Given the description of an element on the screen output the (x, y) to click on. 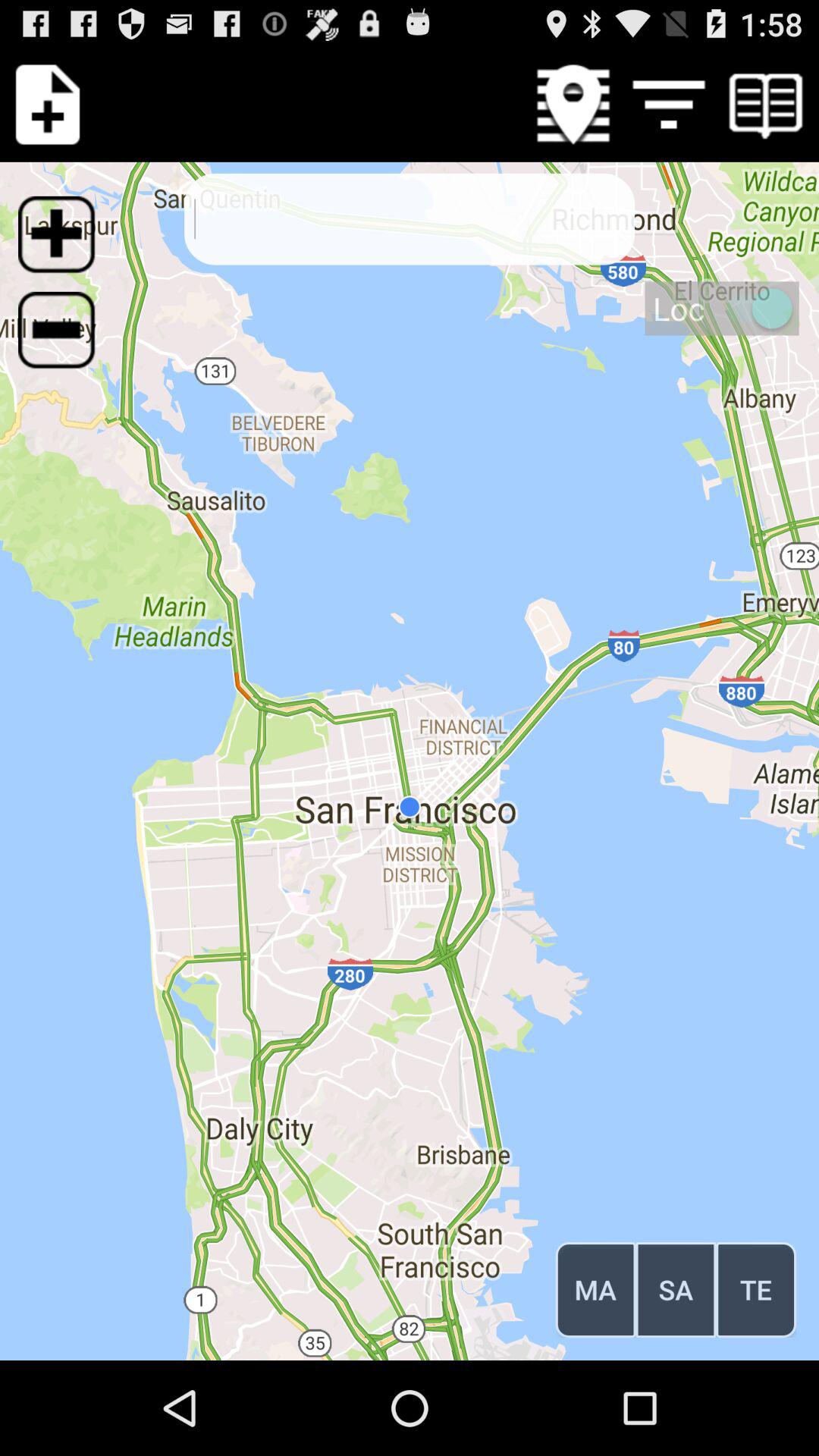
launch icon to the right of the sa (756, 1289)
